Given the description of an element on the screen output the (x, y) to click on. 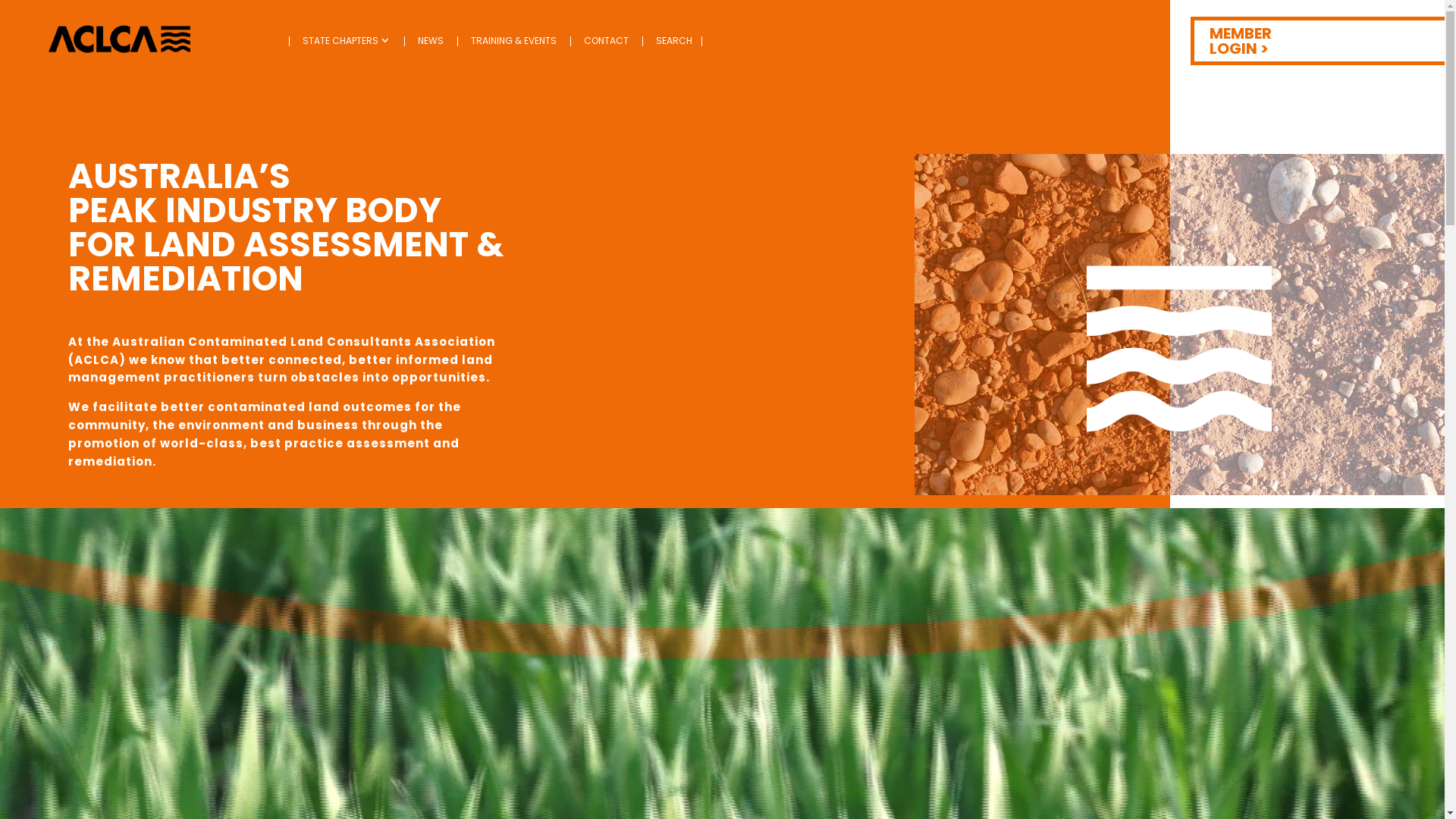
STATE CHAPTERS Element type: text (346, 40)
Search Element type: text (26, 15)
image-9 (1) Element type: hover (119, 38)
NEWS Element type: text (430, 40)
icon-big Element type: hover (1179, 347)
MEMBER
LOGIN > Element type: text (1317, 40)
TRAINING & EVENTS Element type: text (513, 40)
iStock-479374527 Element type: hover (1179, 324)
CONTACT Element type: text (606, 40)
SEARCH Element type: text (674, 40)
